Given the description of an element on the screen output the (x, y) to click on. 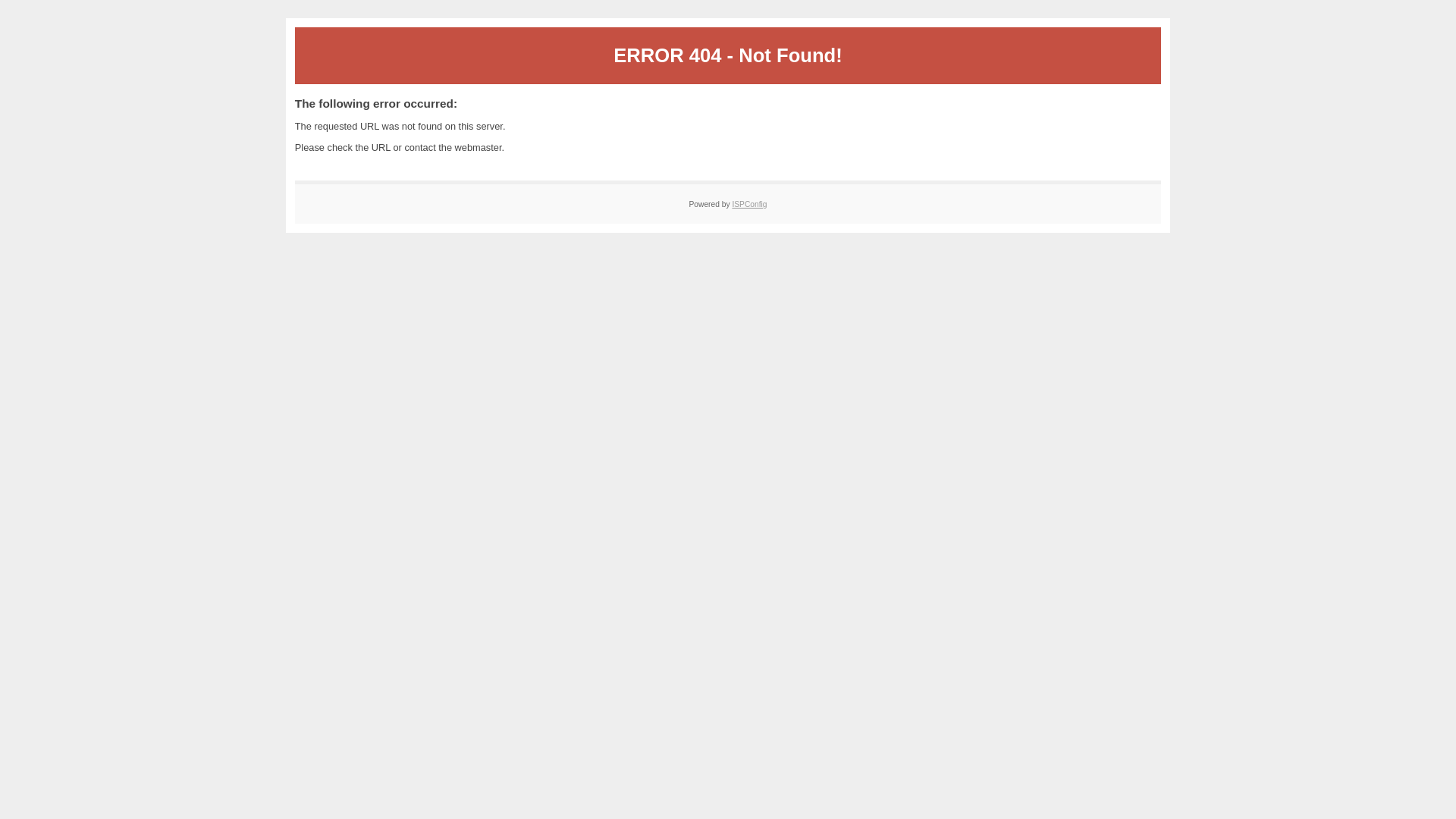
ISPConfig Element type: text (748, 204)
